Given the description of an element on the screen output the (x, y) to click on. 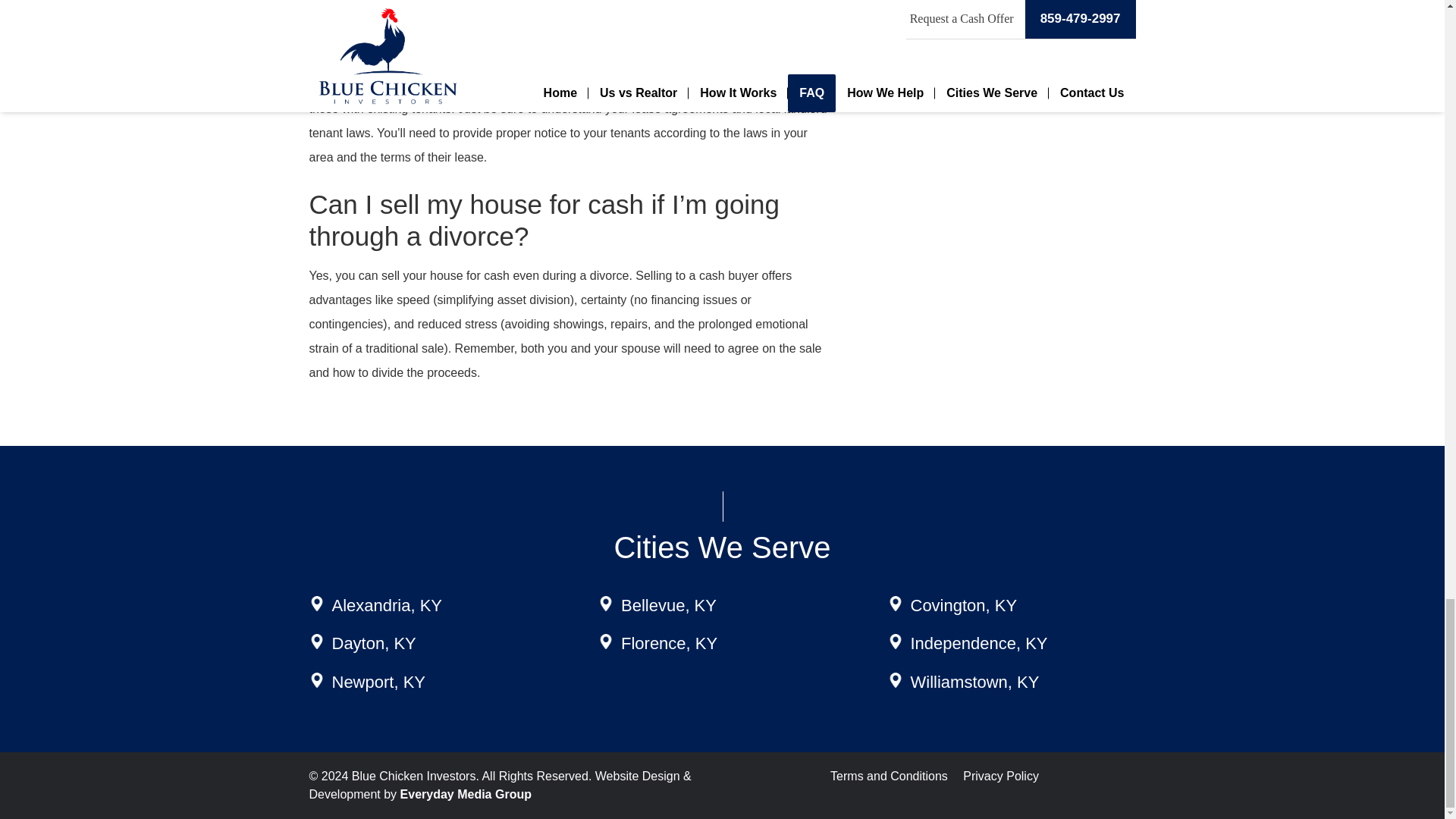
Terms and Conditions (888, 775)
Florence, KY (669, 642)
Privacy Policy (1000, 775)
Bellevue, KY (668, 605)
Independence, KY (978, 642)
Covington, KY (963, 605)
Alexandria, KY (386, 605)
Everyday Media Group (465, 793)
Dayton, KY (373, 642)
